Given the description of an element on the screen output the (x, y) to click on. 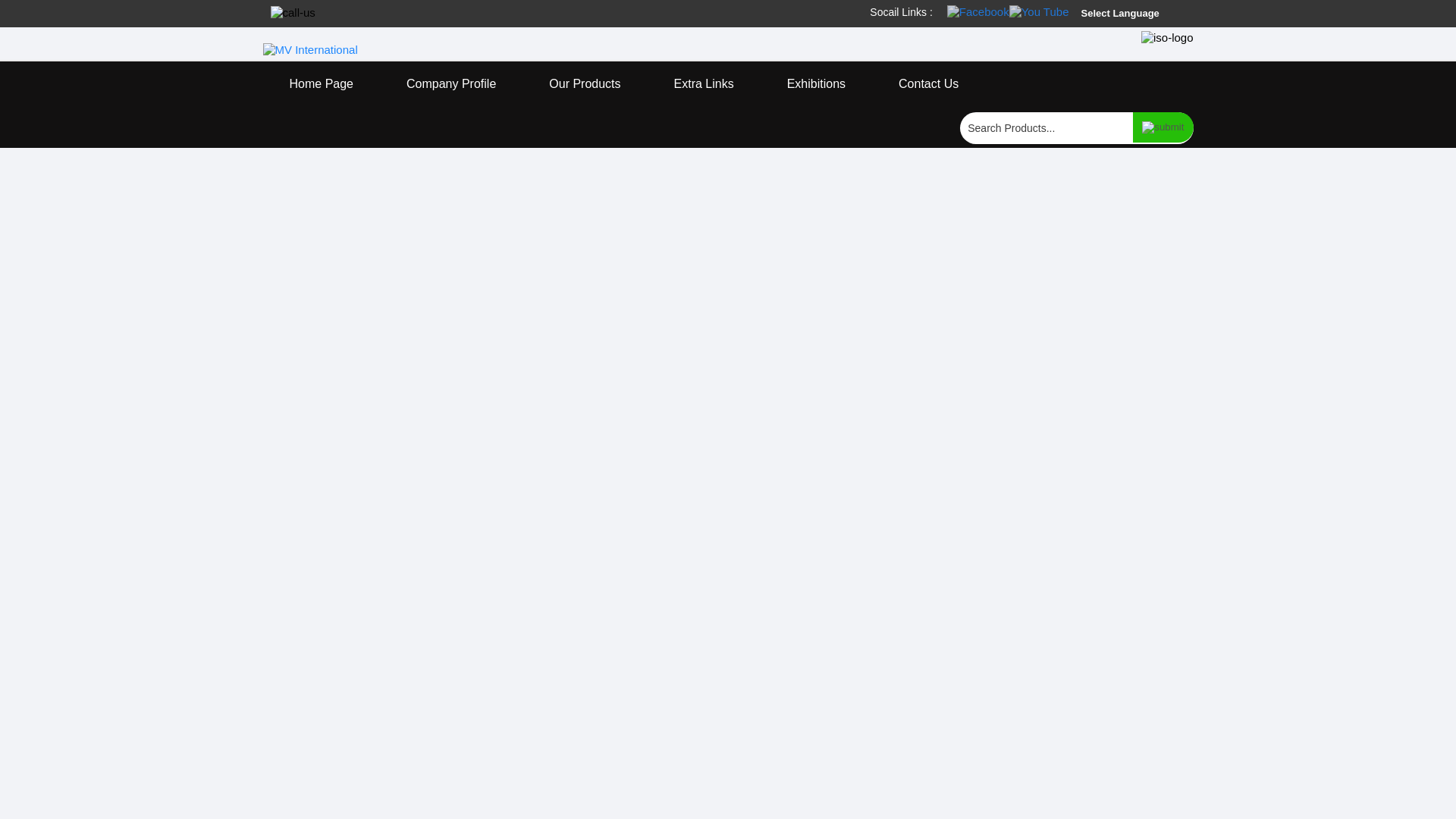
Company Profile (451, 84)
Select Language (1132, 13)
You Tube (1038, 11)
Search Products... (1045, 128)
Our Products (584, 84)
MV International (309, 49)
Facebook (978, 11)
Home Page (321, 84)
submit (1162, 127)
